Given the description of an element on the screen output the (x, y) to click on. 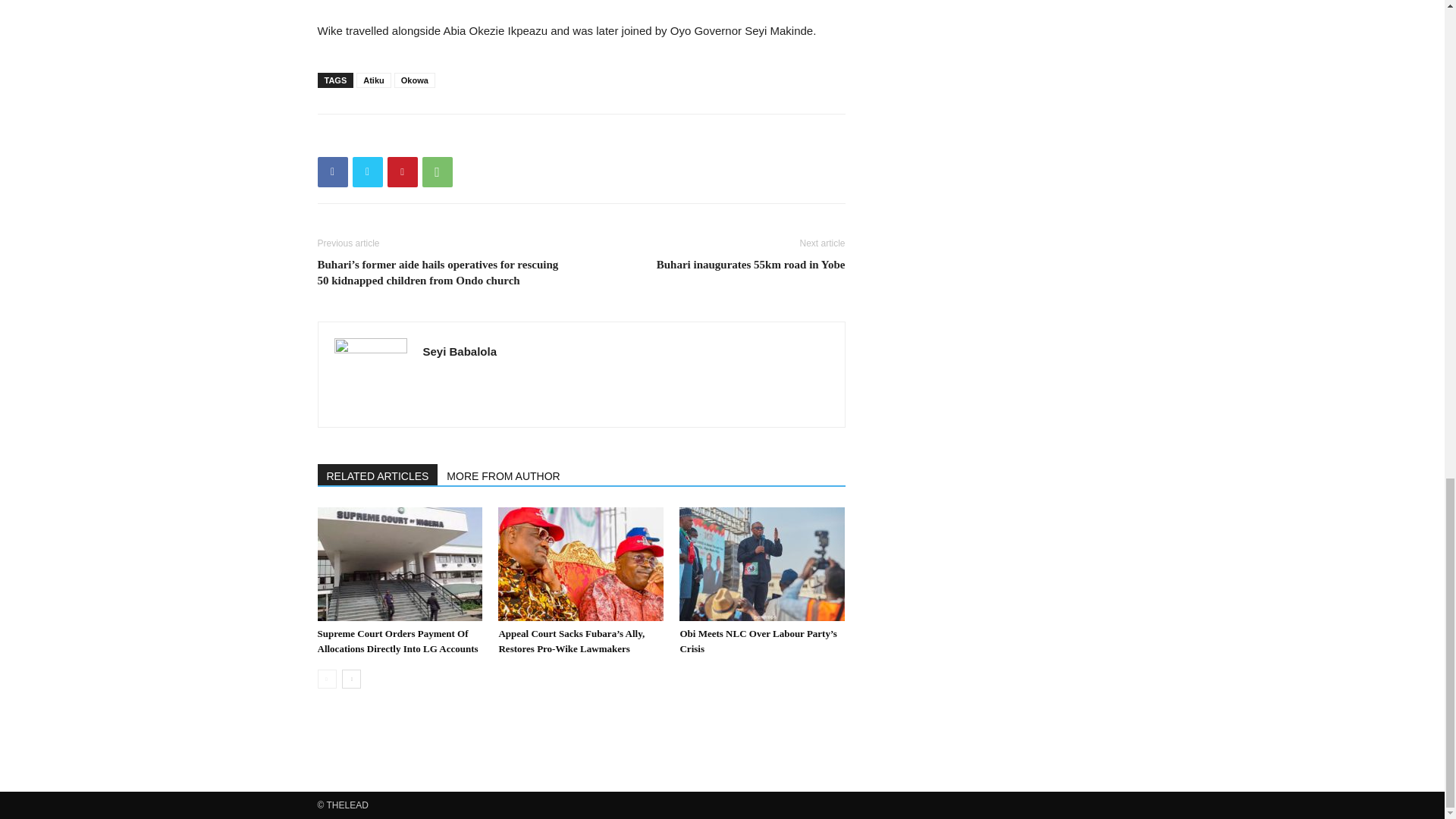
Atiku (373, 79)
Facebook (332, 172)
Pinterest (401, 172)
bottomFacebookLike (430, 138)
Okowa (414, 79)
WhatsApp (436, 172)
Twitter (366, 172)
